Given the description of an element on the screen output the (x, y) to click on. 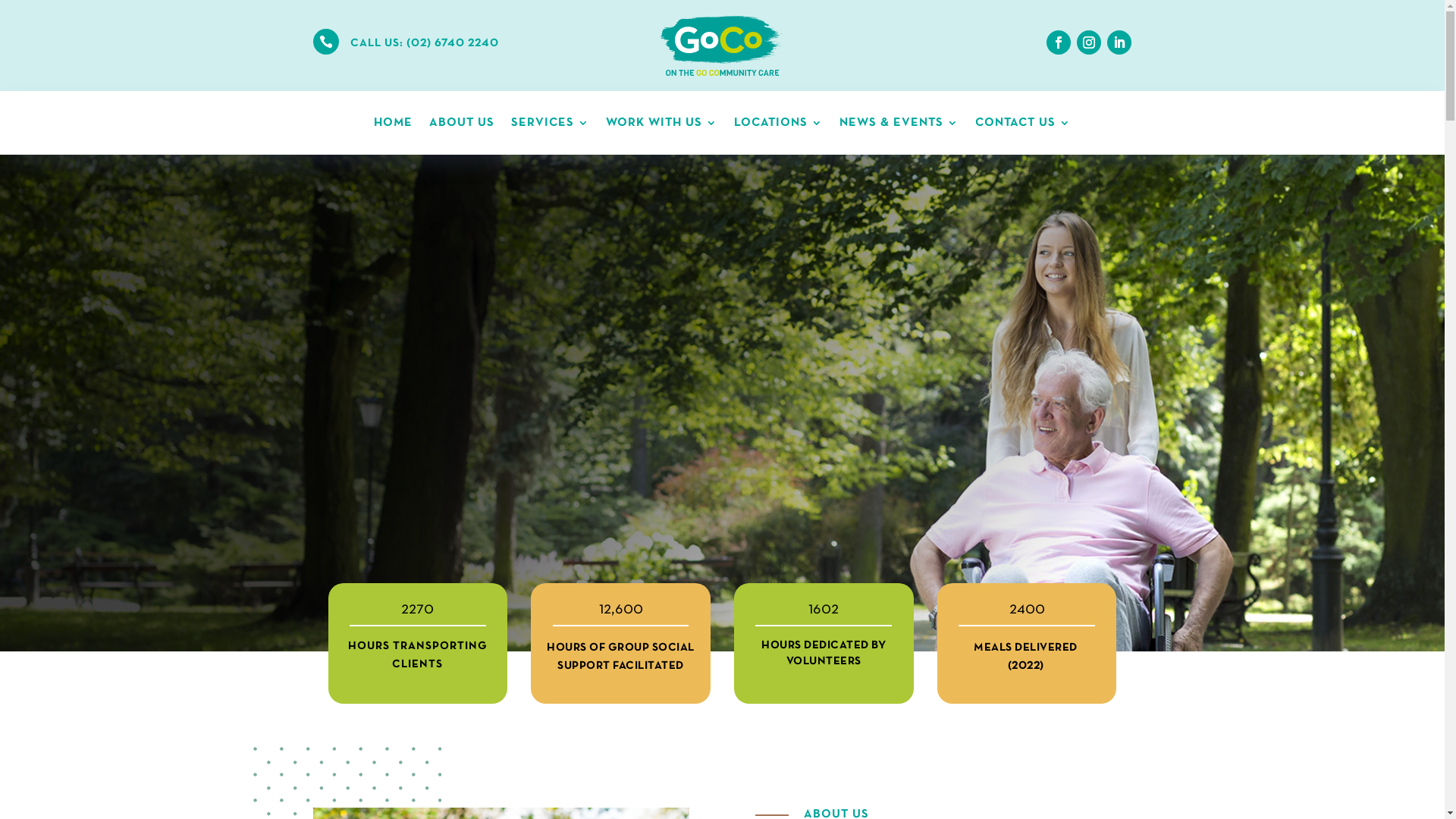
CALL US: (02) 6740 2240 Element type: text (424, 42)
goco-logo Element type: hover (722, 45)
Follow on Facebook Element type: hover (1058, 42)
YOUR LIFE, YOUR CHOICE Element type: text (395, 252)
NEWS & EVENTS Element type: text (898, 125)
HOME Element type: text (392, 125)
Follow on Instagram Element type: hover (1088, 42)
Follow on LinkedIn Element type: hover (1119, 42)
LOCATIONS Element type: text (778, 125)
SERVICES Element type: text (550, 125)
CONTACT US Element type: text (1022, 125)
ABOUT US Element type: text (461, 125)
WORK WITH US Element type: text (661, 125)
FIND OUT MORE Element type: text (401, 463)
